Given the description of an element on the screen output the (x, y) to click on. 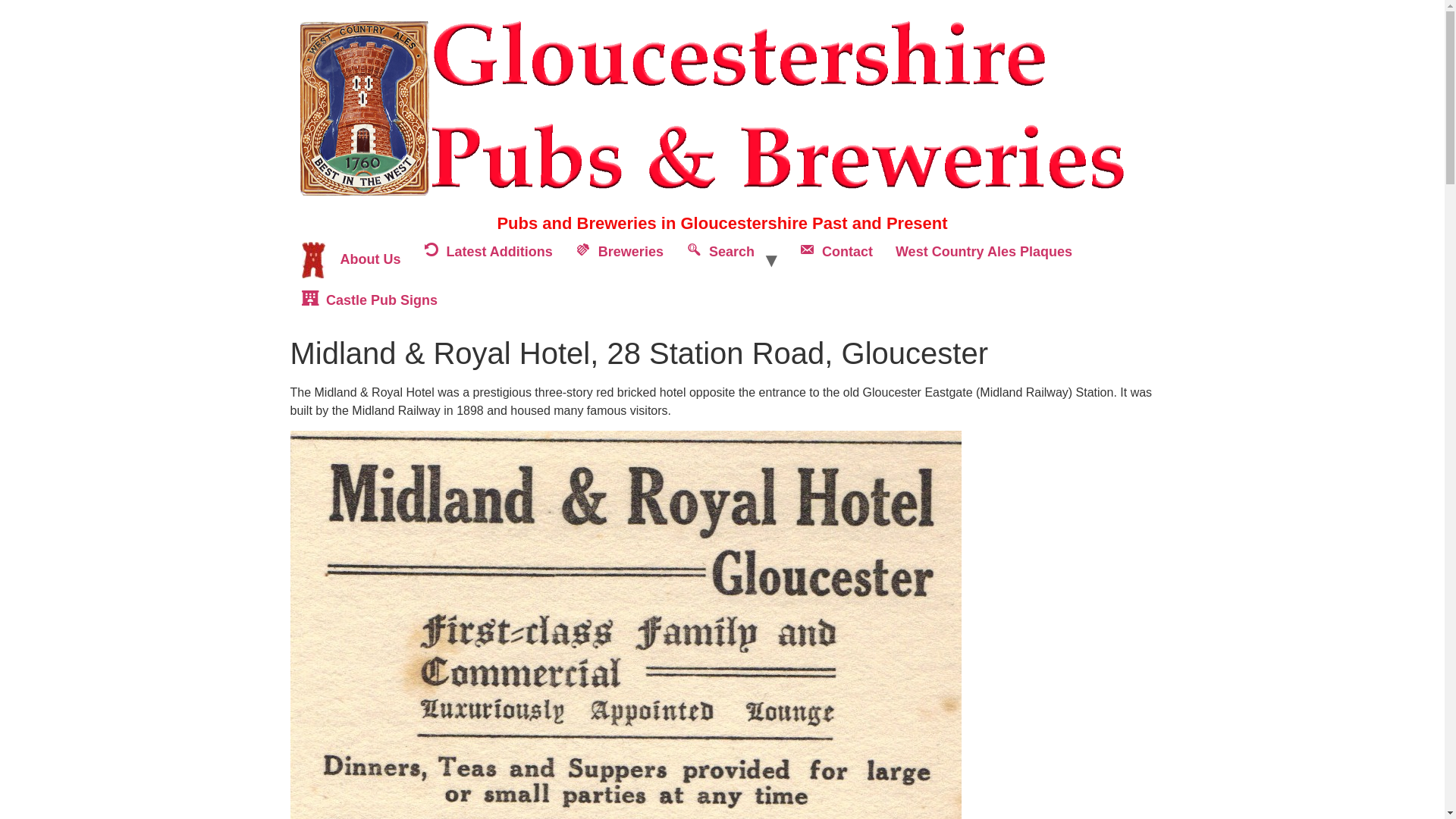
Contact (835, 259)
Latest Additions (488, 259)
Castle Pub Signs (368, 300)
Breweries (619, 259)
West Country Ales Plaques (983, 259)
About Us (350, 259)
Search (720, 259)
